Given the description of an element on the screen output the (x, y) to click on. 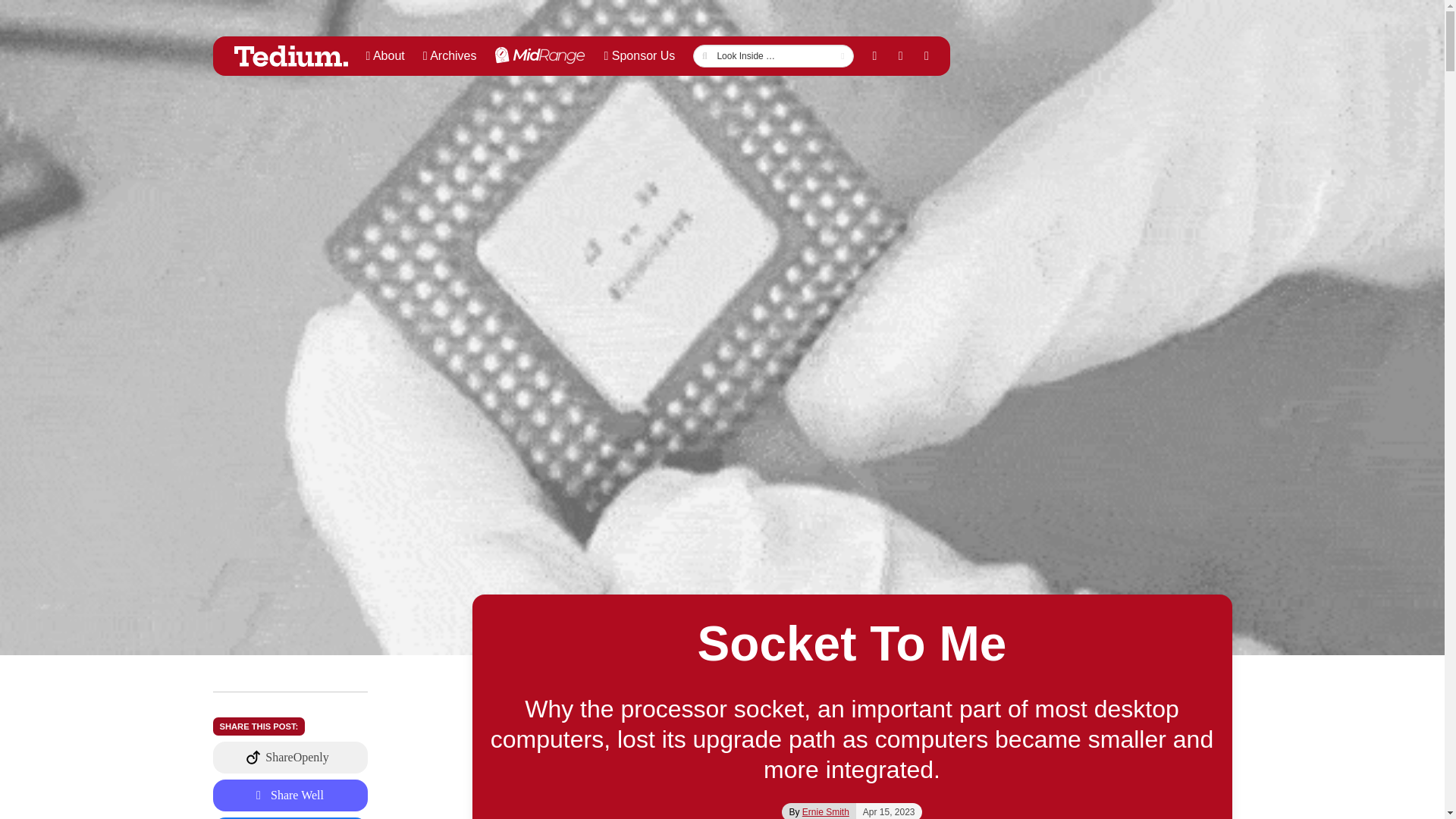
Ernie Smith (825, 811)
ShareOpenly (289, 757)
 Archives (449, 56)
 About (384, 56)
.is-mastodon (289, 757)
 Sponsor Us (639, 56)
.is-mastodon (289, 795)
Share Well (289, 795)
